Given the description of an element on the screen output the (x, y) to click on. 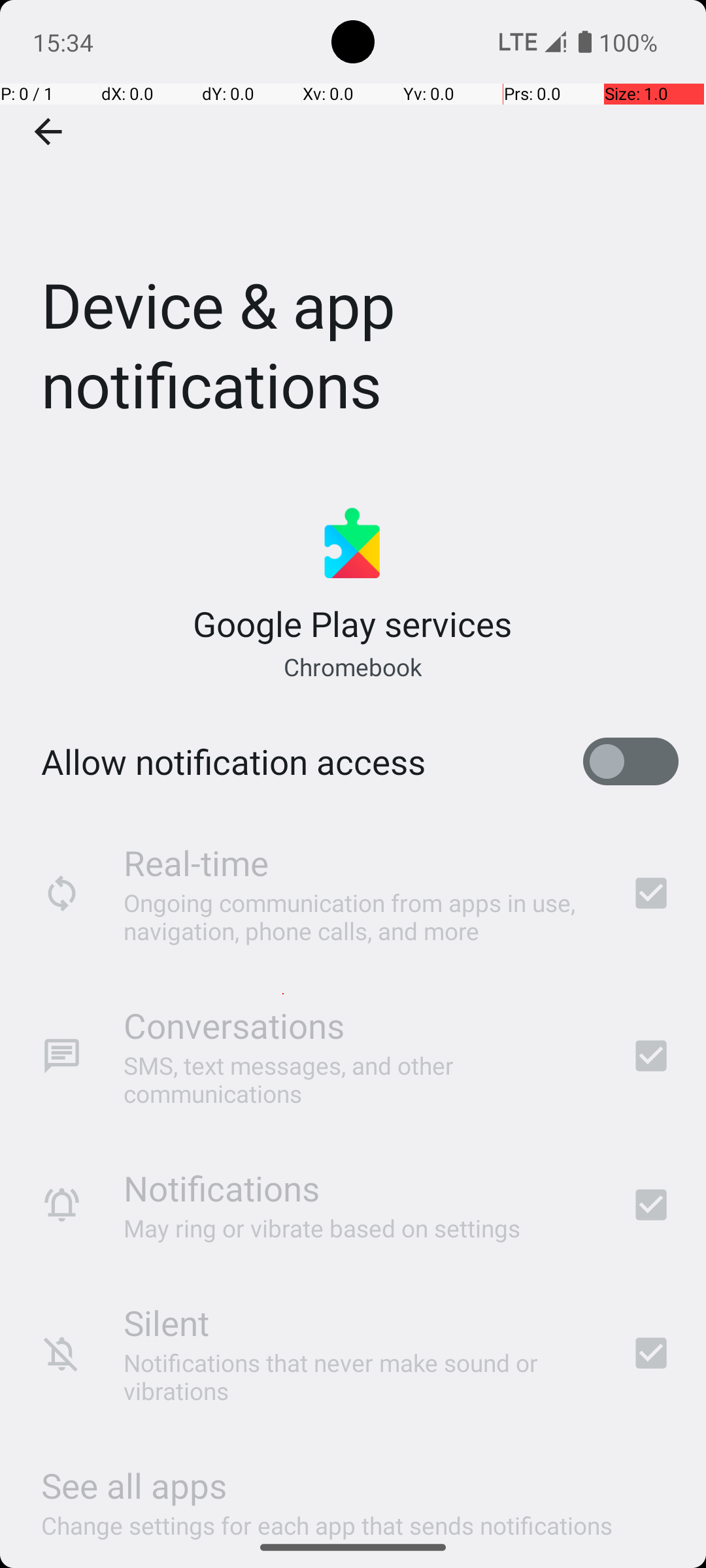
Chromebook Element type: android.widget.TextView (352, 666)
Allow notification access Element type: android.widget.TextView (233, 761)
Real-time Element type: android.widget.TextView (195, 862)
Ongoing communication from apps in use, navigation, phone calls, and more Element type: android.widget.TextView (359, 916)
SMS, text messages, and other communications Element type: android.widget.TextView (359, 1079)
May ring or vibrate based on settings Element type: android.widget.TextView (322, 1227)
Silent Element type: android.widget.TextView (166, 1322)
Notifications that never make sound or vibrations Element type: android.widget.TextView (359, 1376)
See all apps Element type: android.widget.TextView (133, 1485)
Change settings for each app that sends notifications Element type: android.widget.TextView (326, 1517)
